Given the description of an element on the screen output the (x, y) to click on. 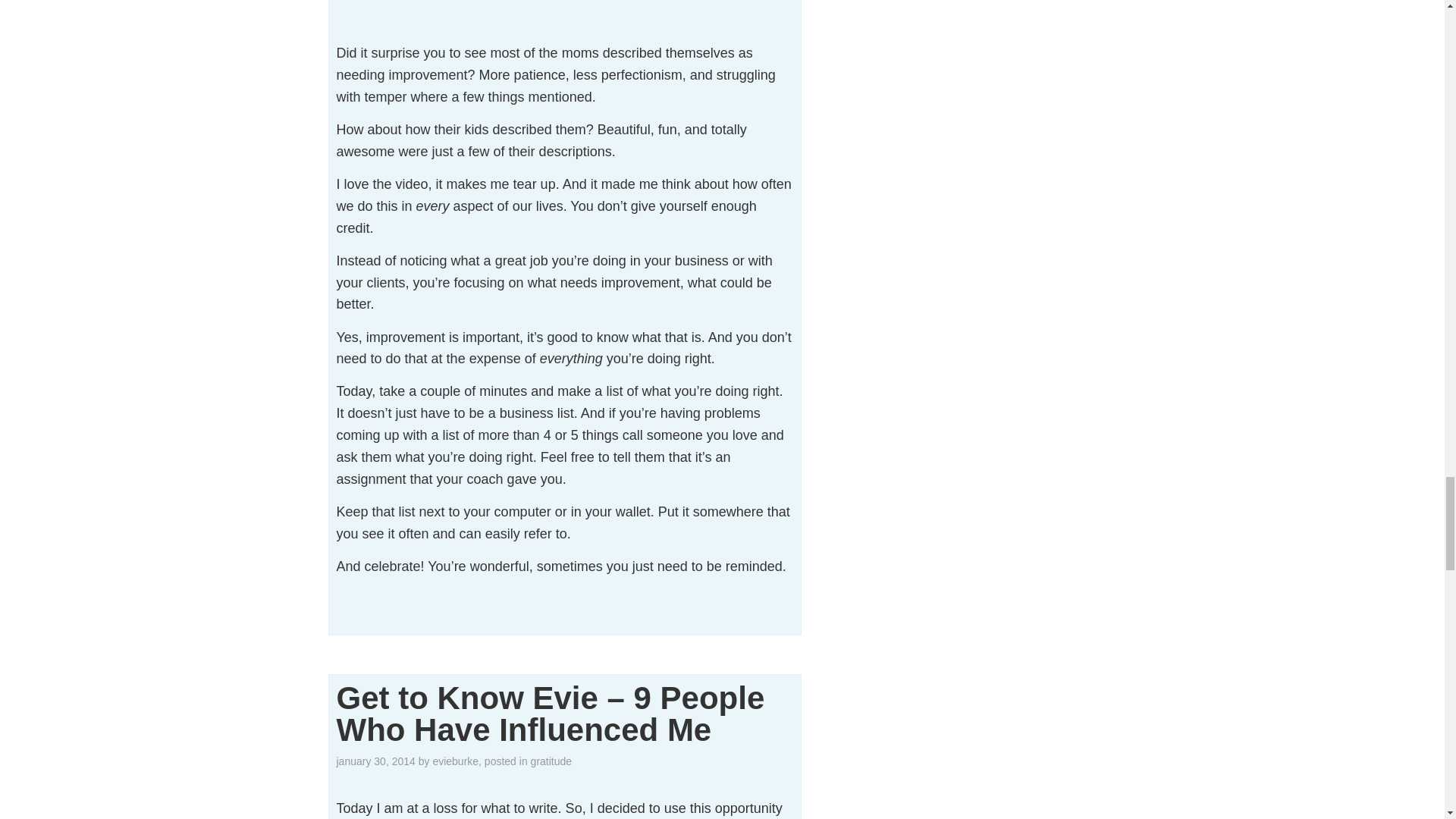
gratitude (551, 761)
evieburke (455, 761)
january 30, 2014 (375, 761)
